Given the description of an element on the screen output the (x, y) to click on. 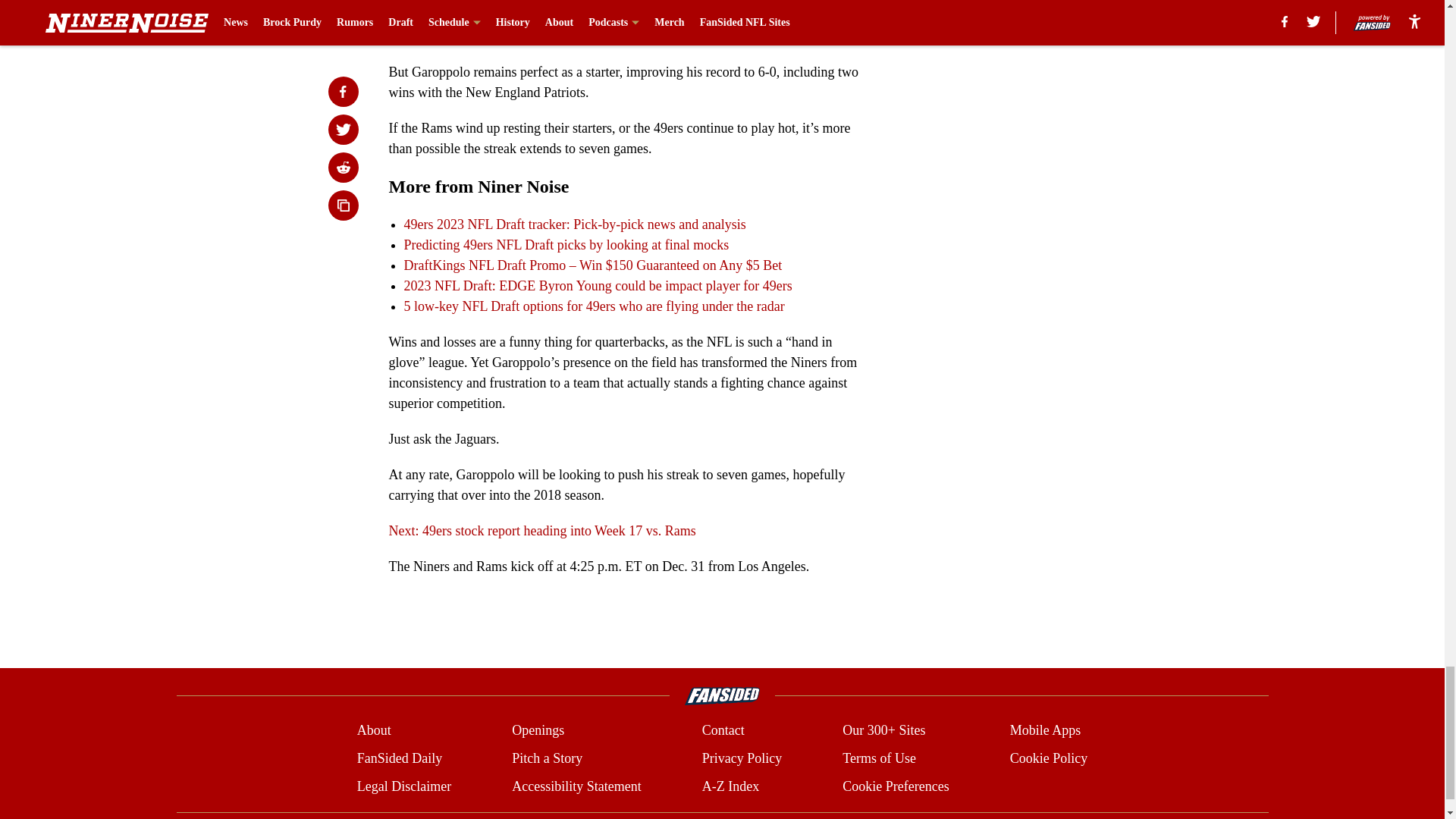
Contact (722, 730)
Openings (538, 730)
About (373, 730)
Next: 49ers stock report heading into Week 17 vs. Rams (541, 530)
his own career (519, 36)
49ers 2023 NFL Draft tracker: Pick-by-pick news and analysis (574, 224)
Predicting 49ers NFL Draft picks by looking at final mocks (566, 243)
